Given the description of an element on the screen output the (x, y) to click on. 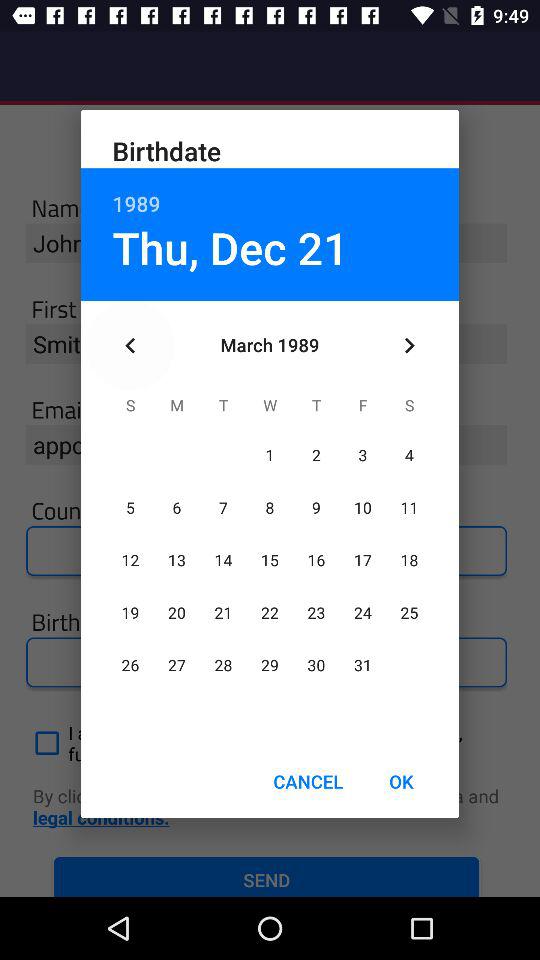
launch icon on the left (130, 345)
